Given the description of an element on the screen output the (x, y) to click on. 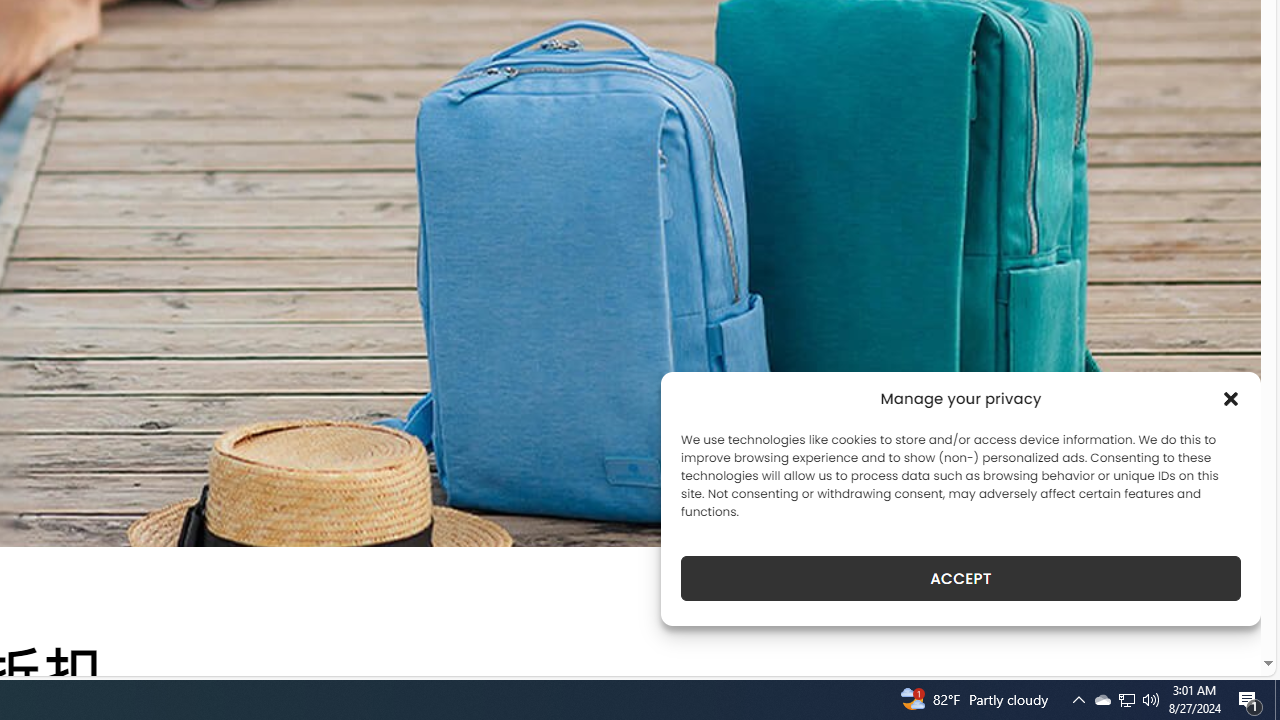
Class: cmplz-close (1231, 398)
ACCEPT (960, 578)
